Given the description of an element on the screen output the (x, y) to click on. 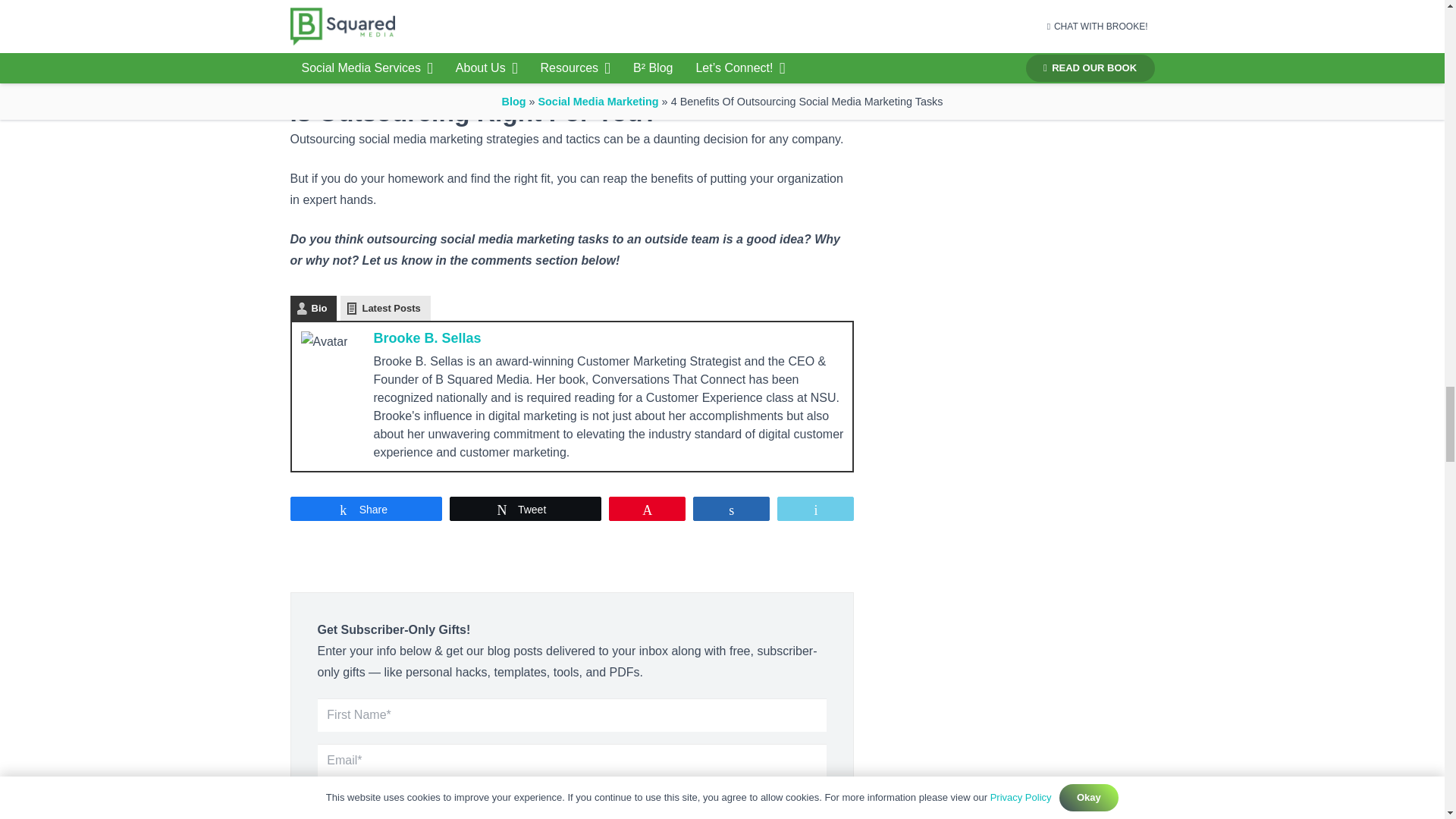
Sign Up for Goodies! (394, 806)
